Given the description of an element on the screen output the (x, y) to click on. 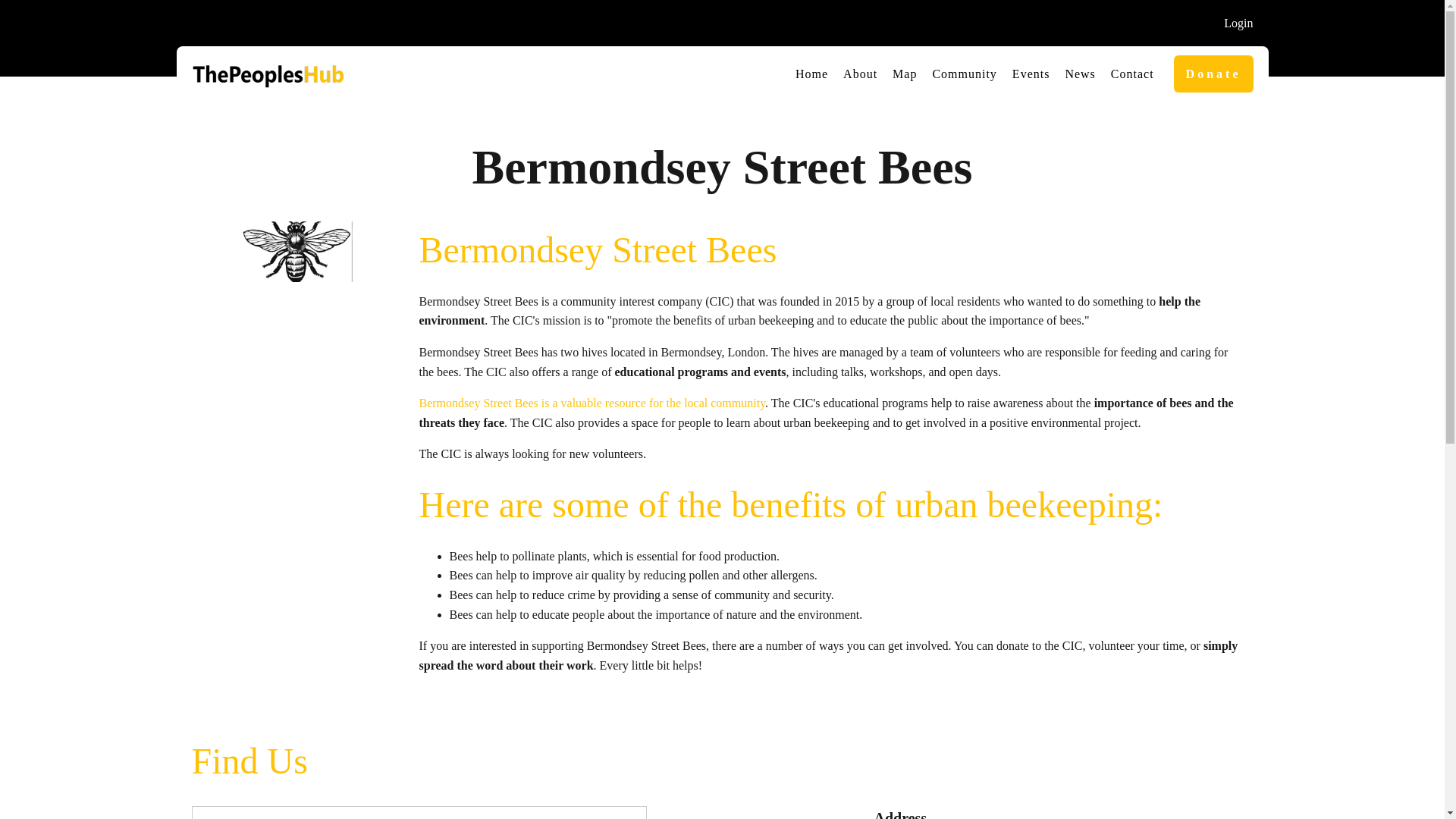
Donate (1213, 73)
Contact (1132, 73)
Login (1238, 23)
Events (1031, 73)
Community (964, 73)
